Given the description of an element on the screen output the (x, y) to click on. 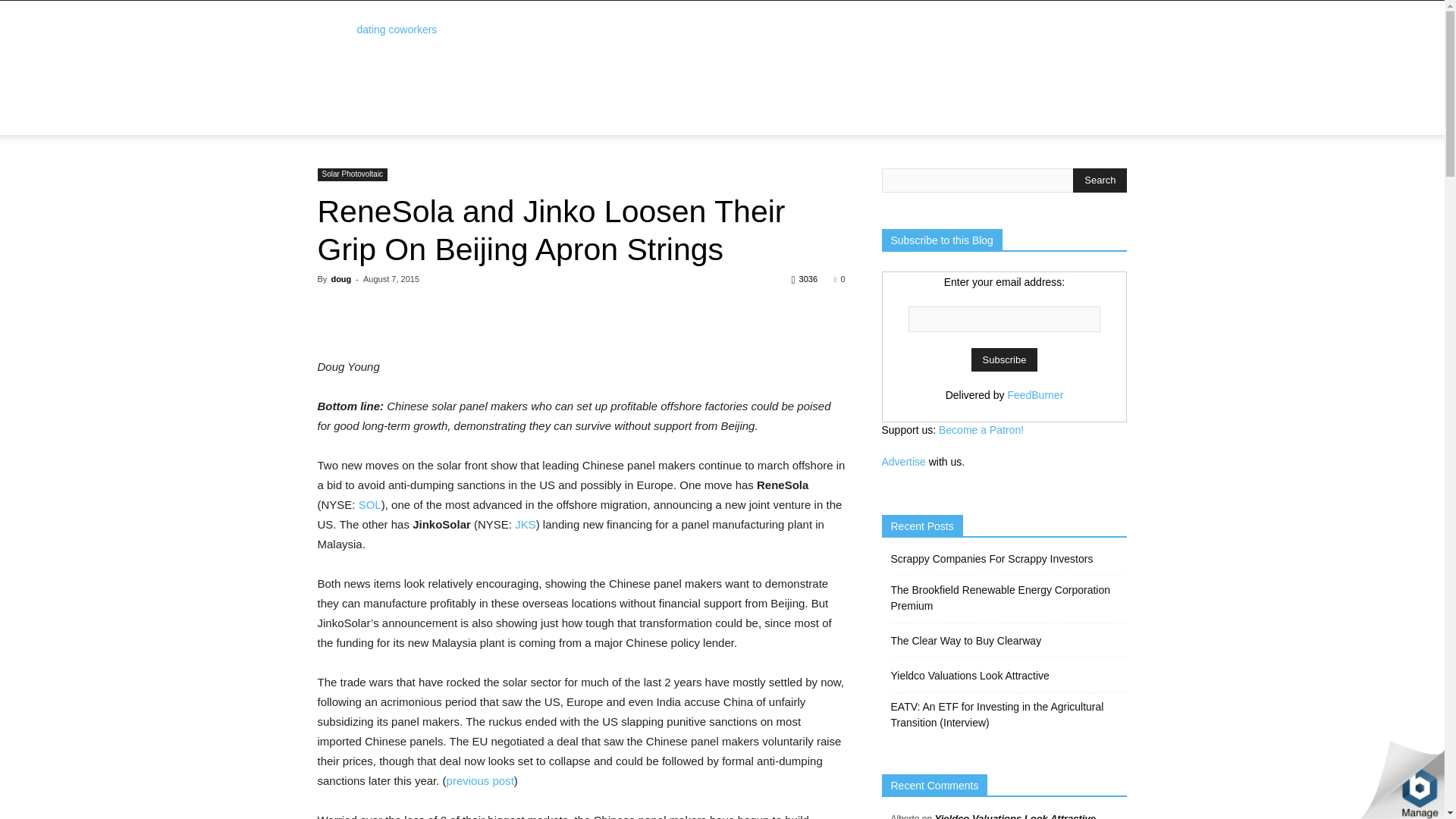
STOCK LISTS (405, 106)
GEOTHERMAL (720, 106)
ENERGY EFFICIENCY (944, 106)
Solar Photovoltaic (352, 174)
ELECTRIC GRID (363, 125)
Subscribe (1004, 359)
Advertisement (850, 56)
Search (1085, 139)
CONTACT (697, 125)
SOLAR (653, 106)
